Given the description of an element on the screen output the (x, y) to click on. 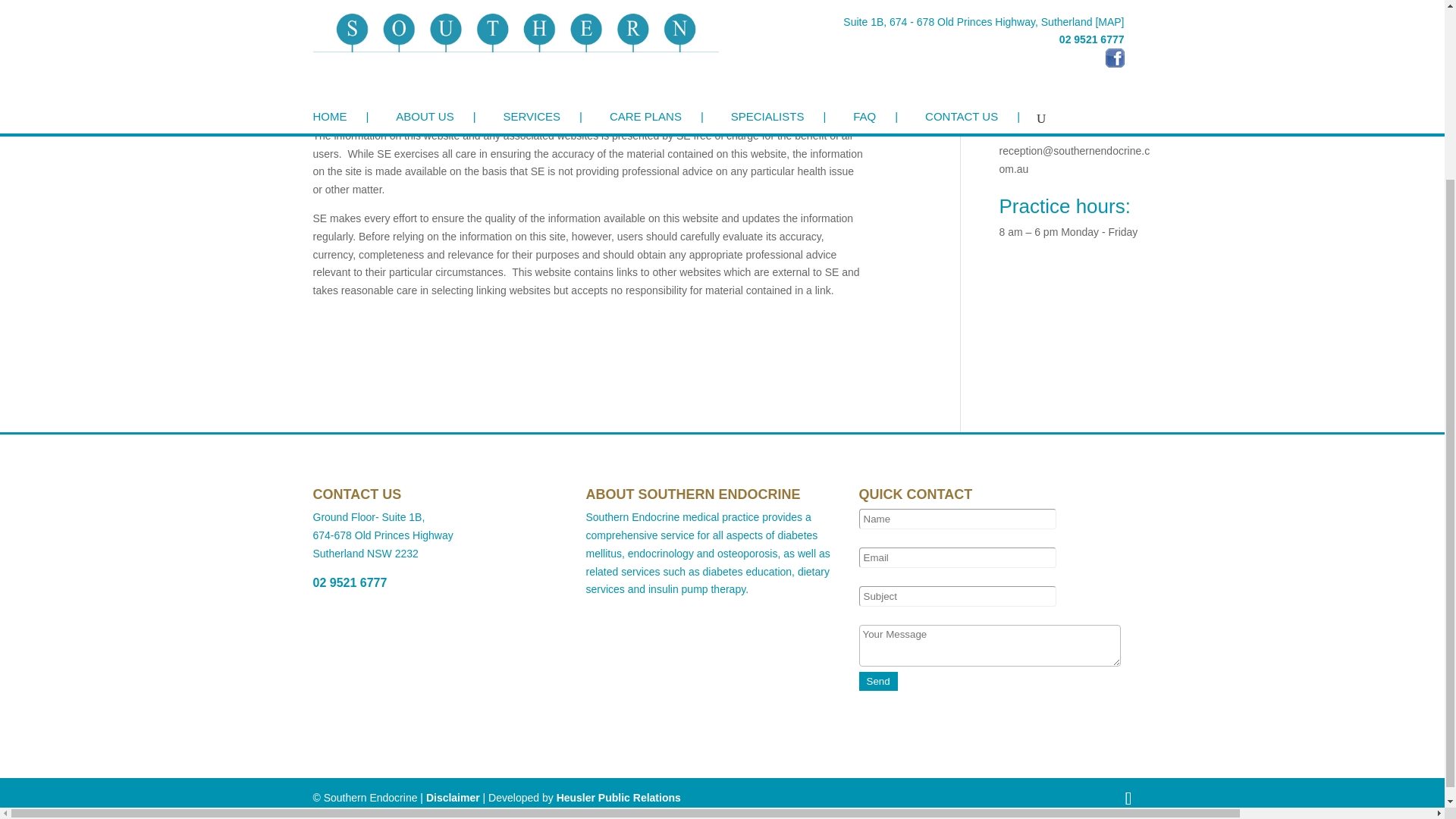
Disclaimer (453, 797)
Send (877, 681)
Send (877, 681)
Heusler Public Relations (618, 797)
